Given the description of an element on the screen output the (x, y) to click on. 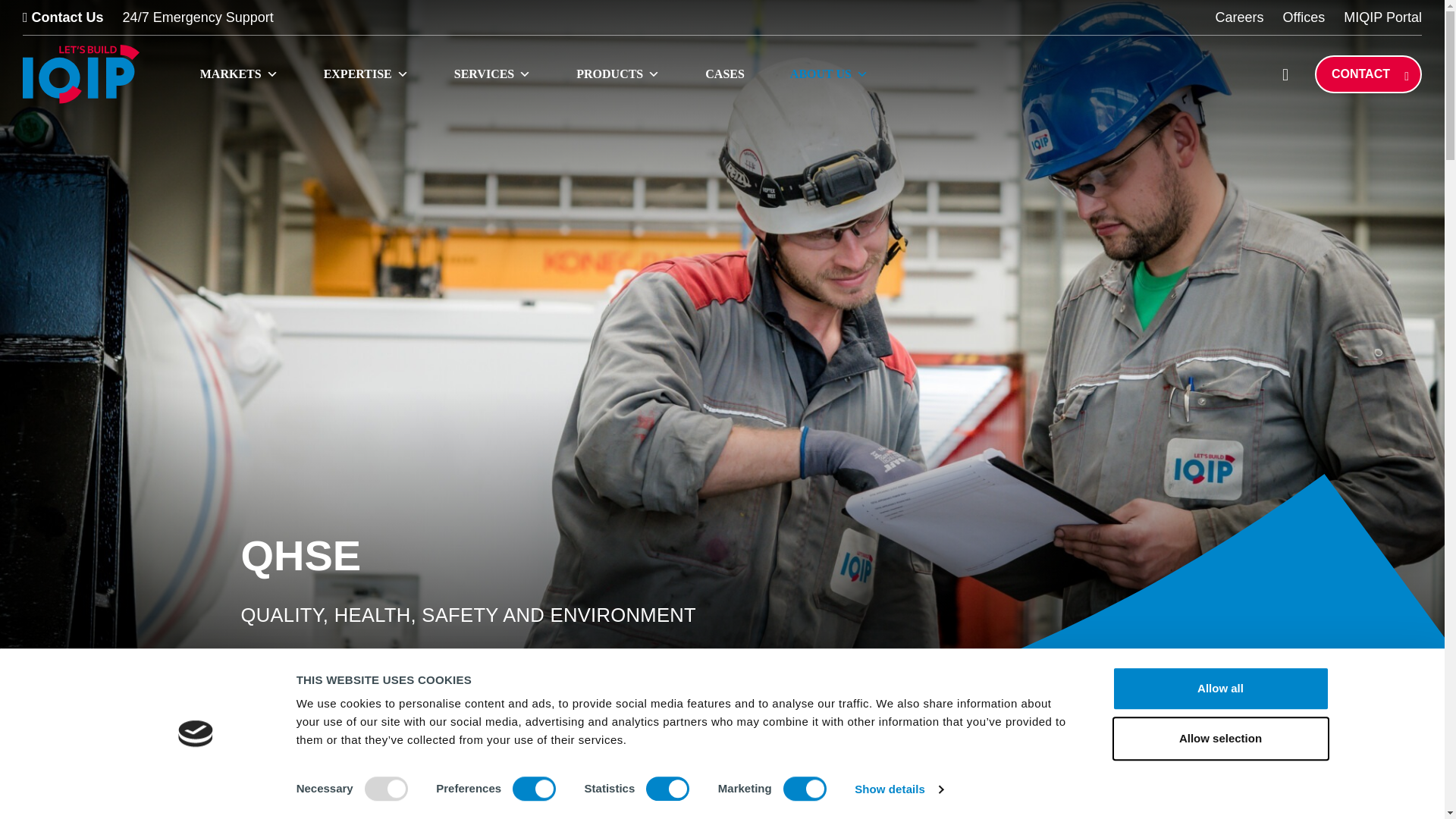
Allow all (1219, 688)
Allow selection (1219, 738)
Show details (898, 789)
